Given the description of an element on the screen output the (x, y) to click on. 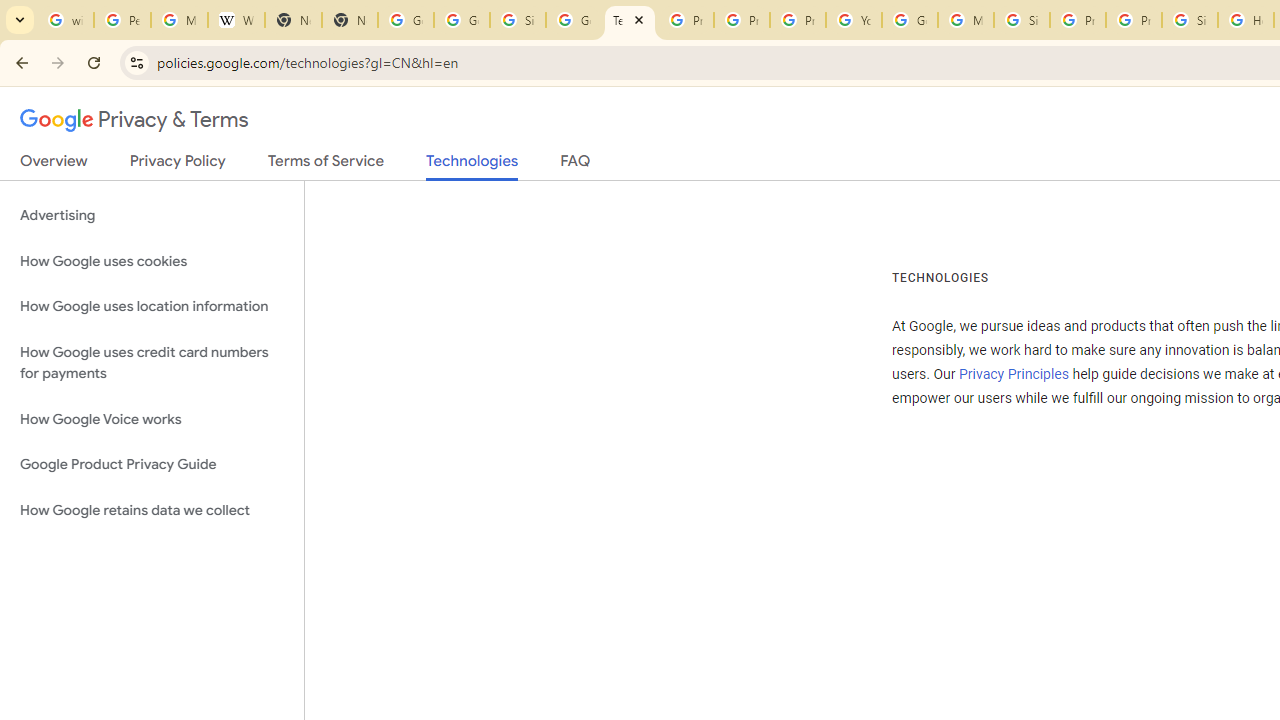
How Google uses cookies (152, 261)
New Tab (349, 20)
Google Product Privacy Guide (152, 465)
How Google retains data we collect (152, 510)
Advertising (152, 215)
Google Account Help (909, 20)
Google Drive: Sign-in (461, 20)
